Given the description of an element on the screen output the (x, y) to click on. 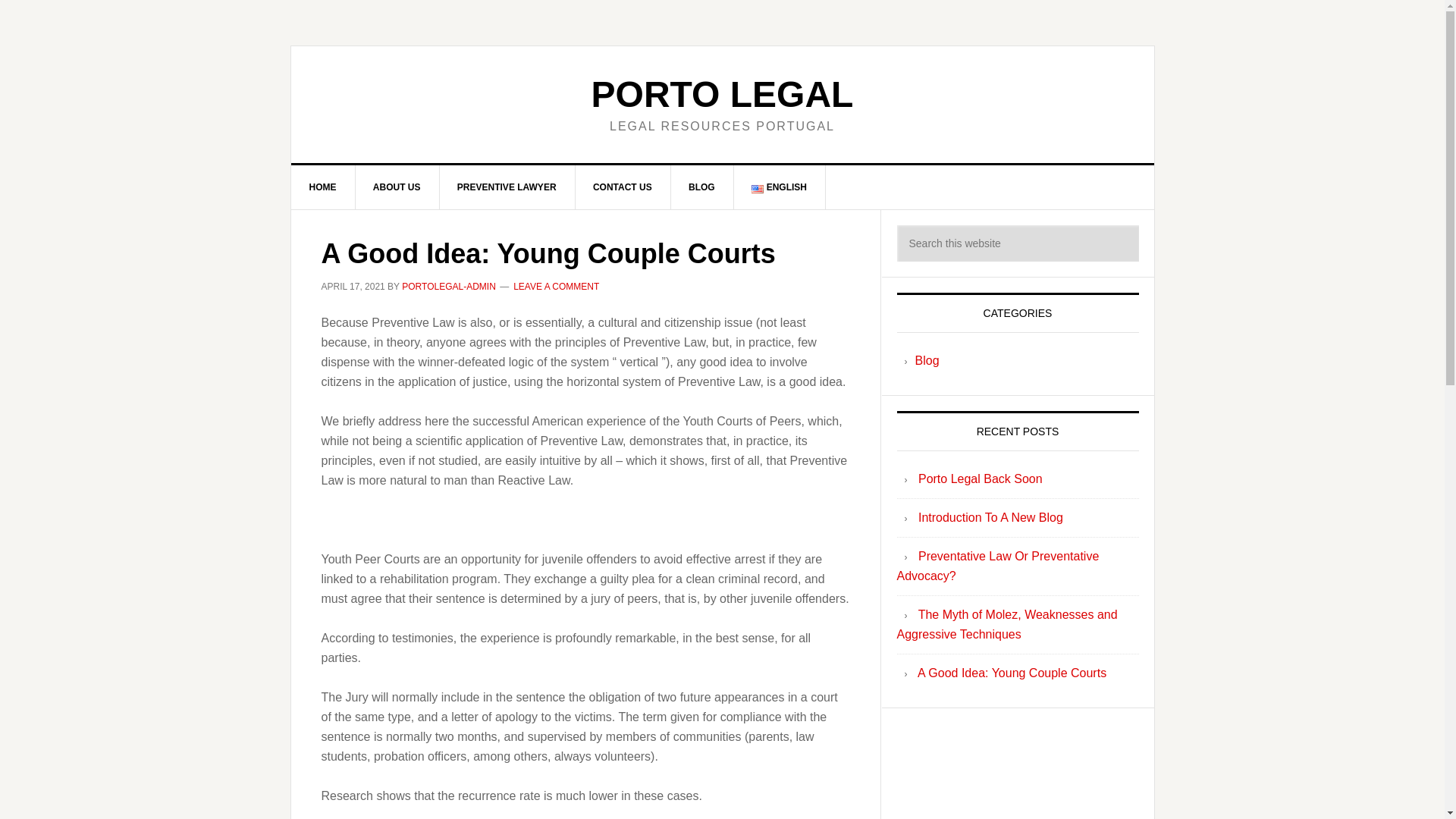
HOME (323, 187)
Porto Legal Back Soon (980, 478)
PORTO LEGAL (722, 94)
ABOUT US (397, 187)
LEAVE A COMMENT (555, 286)
PORTOLEGAL-ADMIN (448, 286)
ENGLISH (779, 187)
A Good Idea: Young Couple Courts (1011, 672)
PREVENTIVE LAWYER (507, 187)
The Myth of Molez, Weaknesses and Aggressive Techniques (1006, 624)
Preventative Law Or Preventative Advocacy? (997, 565)
BLOG (701, 187)
CONTACT US (623, 187)
